Given the description of an element on the screen output the (x, y) to click on. 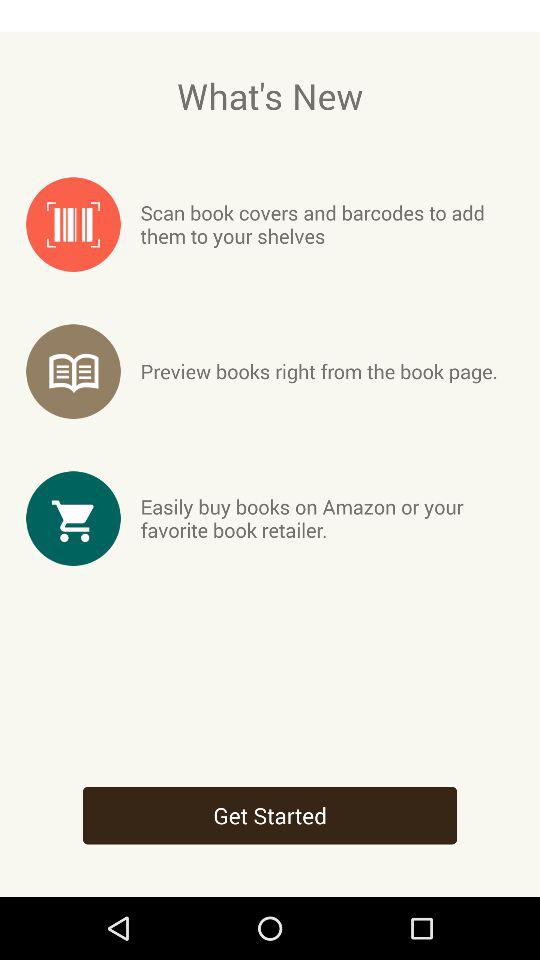
launch the easily buy books item (326, 518)
